Given the description of an element on the screen output the (x, y) to click on. 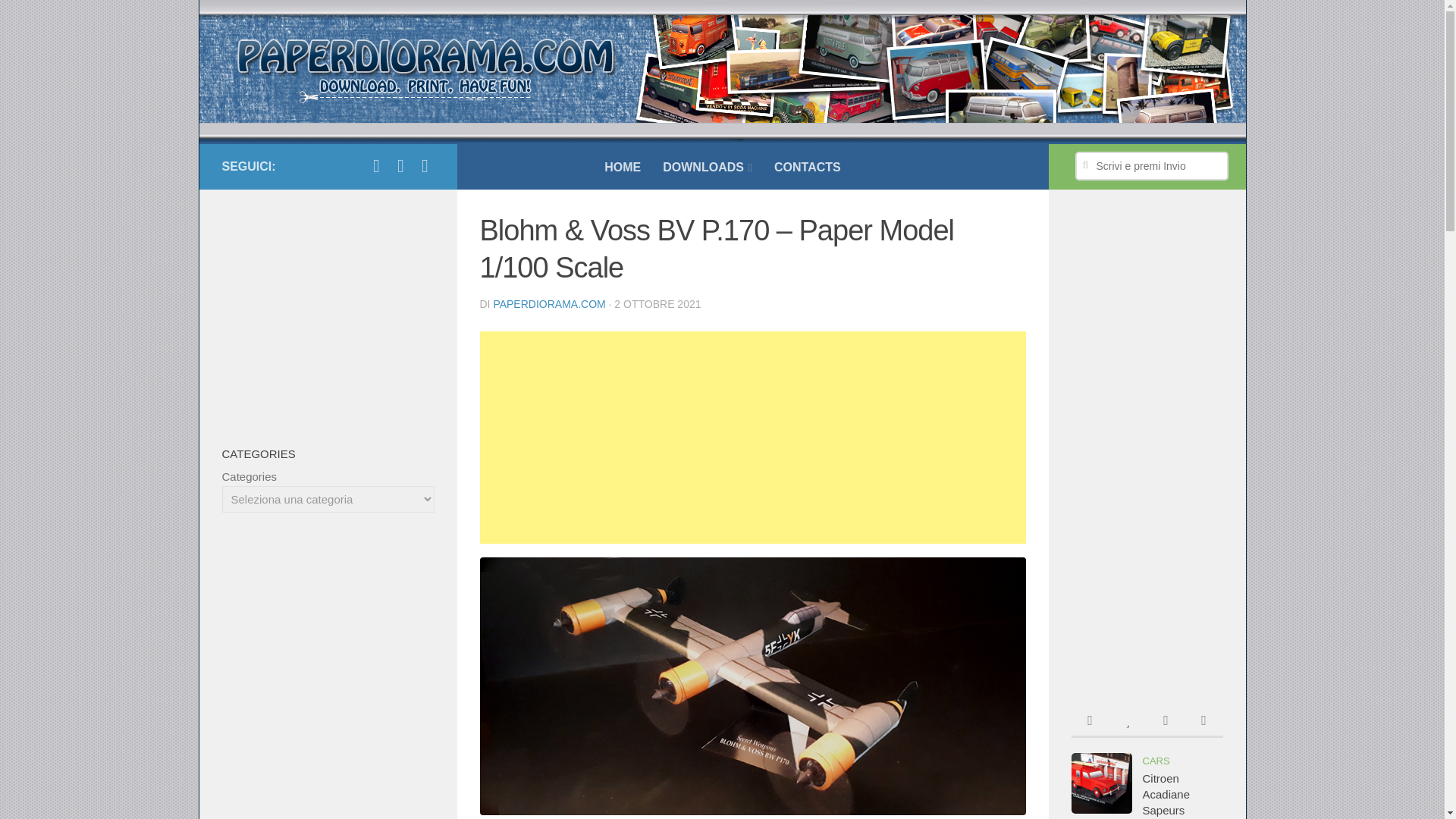
Articoli scritti da: Paperdiorama.com (549, 304)
Facebook (375, 166)
Scrivi e premi Invio (1151, 165)
PAPERDIORAMA.COM (549, 304)
HOME (622, 166)
DOWNLOADS (707, 167)
Feed RSS (423, 166)
Advertisement (752, 437)
CONTACTS (806, 166)
Scrivi e premi Invio (1151, 165)
